Given the description of an element on the screen output the (x, y) to click on. 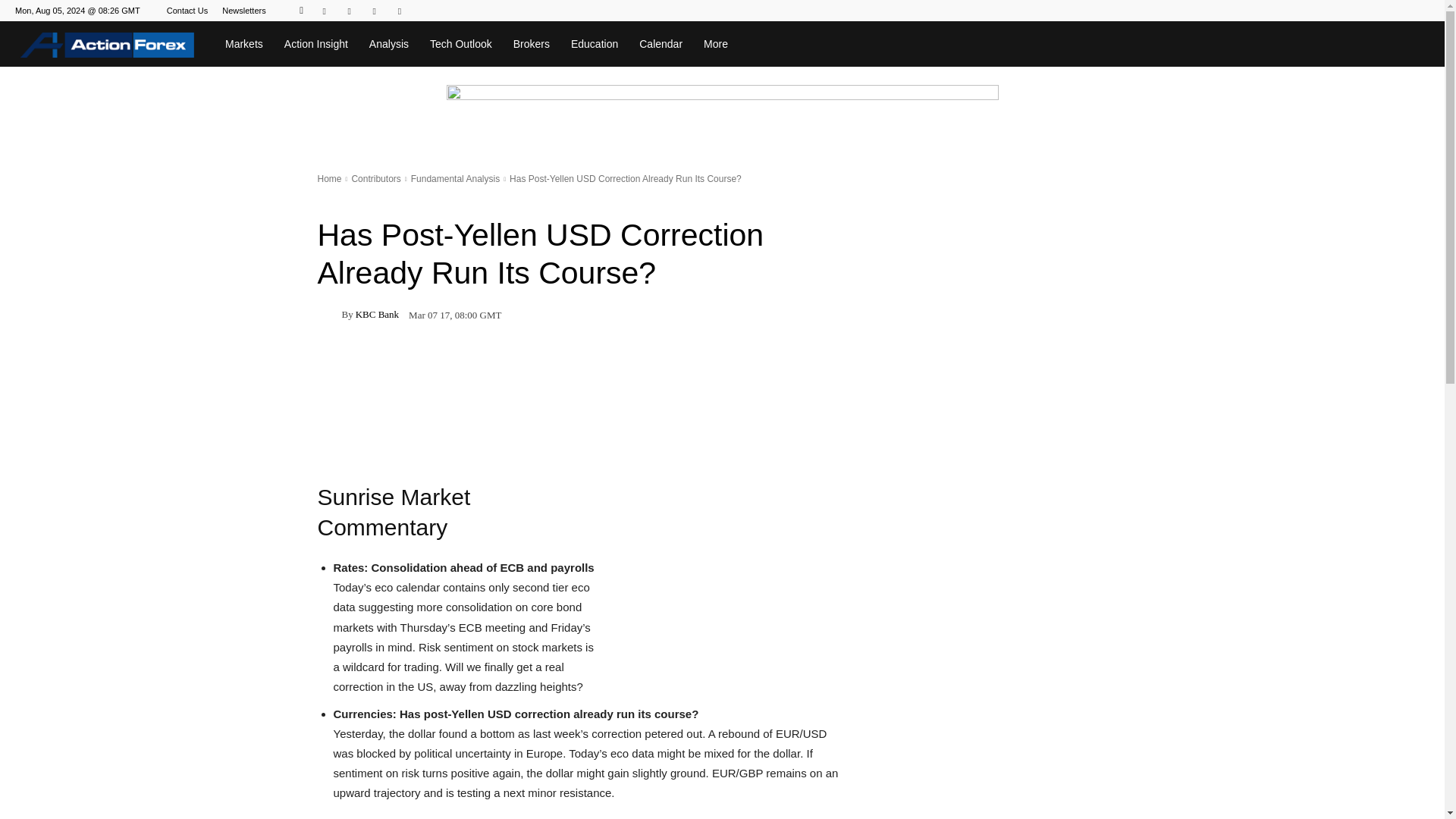
Mail (349, 10)
RSS (373, 10)
Action Forex (106, 44)
Facebook (324, 10)
Twitter (399, 10)
